Given the description of an element on the screen output the (x, y) to click on. 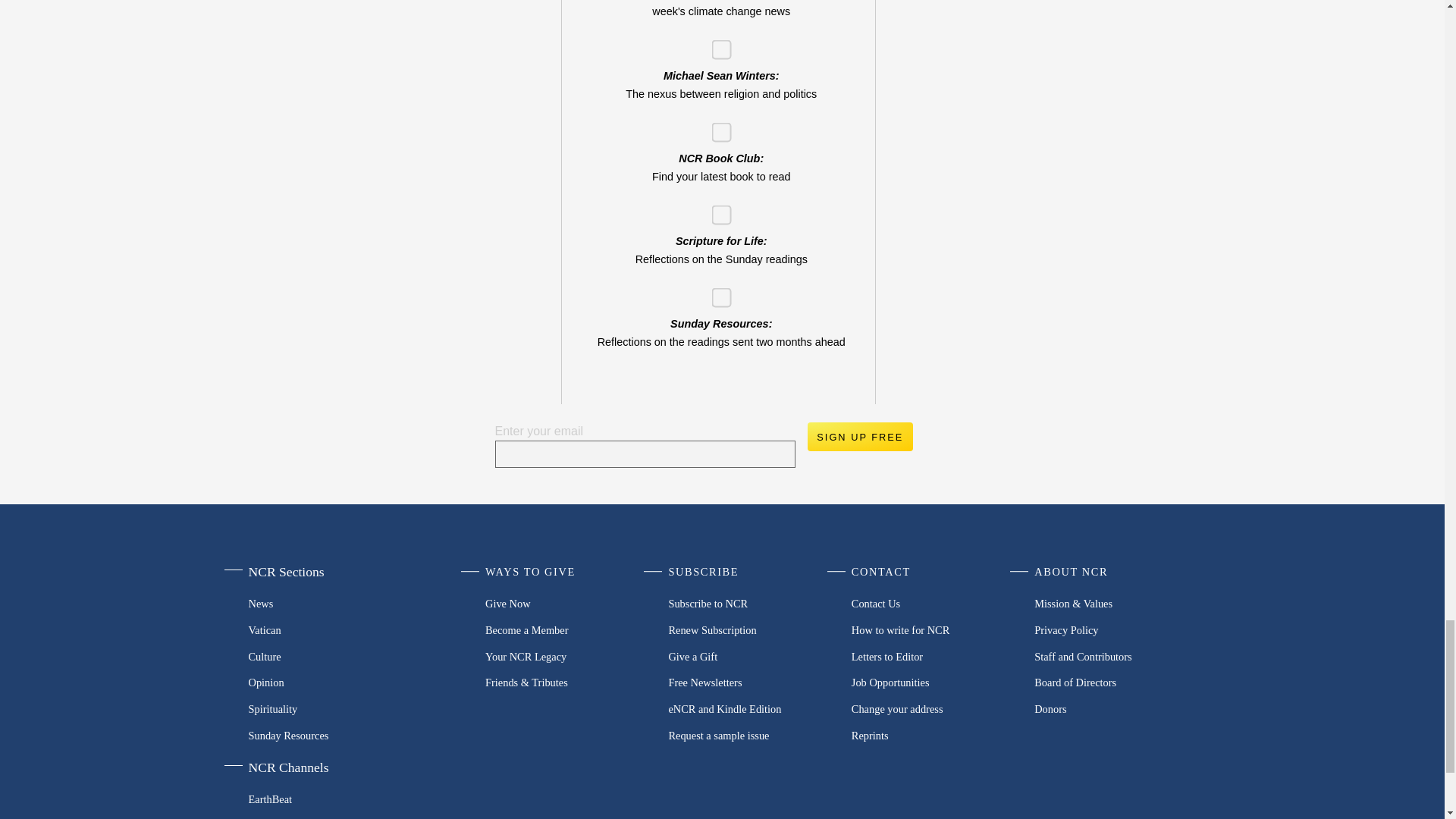
Sign up free (859, 436)
How to write for NCR (932, 630)
13ede0f40e (715, 127)
dfa4c56aff (715, 293)
3b77a4581e (715, 44)
Donors (1114, 709)
Change your address (932, 709)
Request a sample issue of NCR (748, 734)
Request a reprint of NCR content (932, 734)
c25324053e (715, 210)
